Given the description of an element on the screen output the (x, y) to click on. 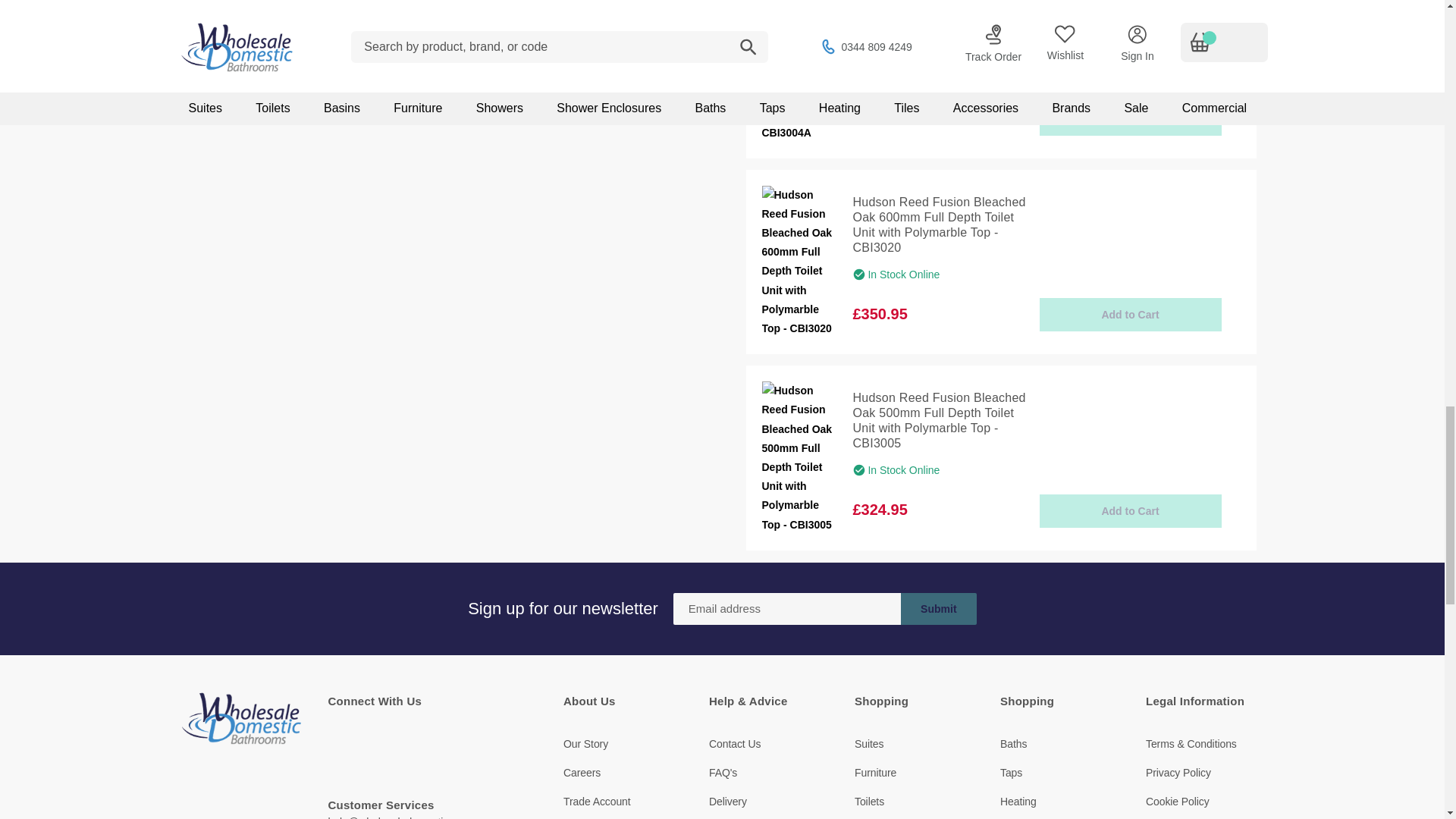
Add to Cart (1130, 314)
Add to Cart (1130, 510)
Submit (938, 608)
Add to Cart (1130, 118)
